Given the description of an element on the screen output the (x, y) to click on. 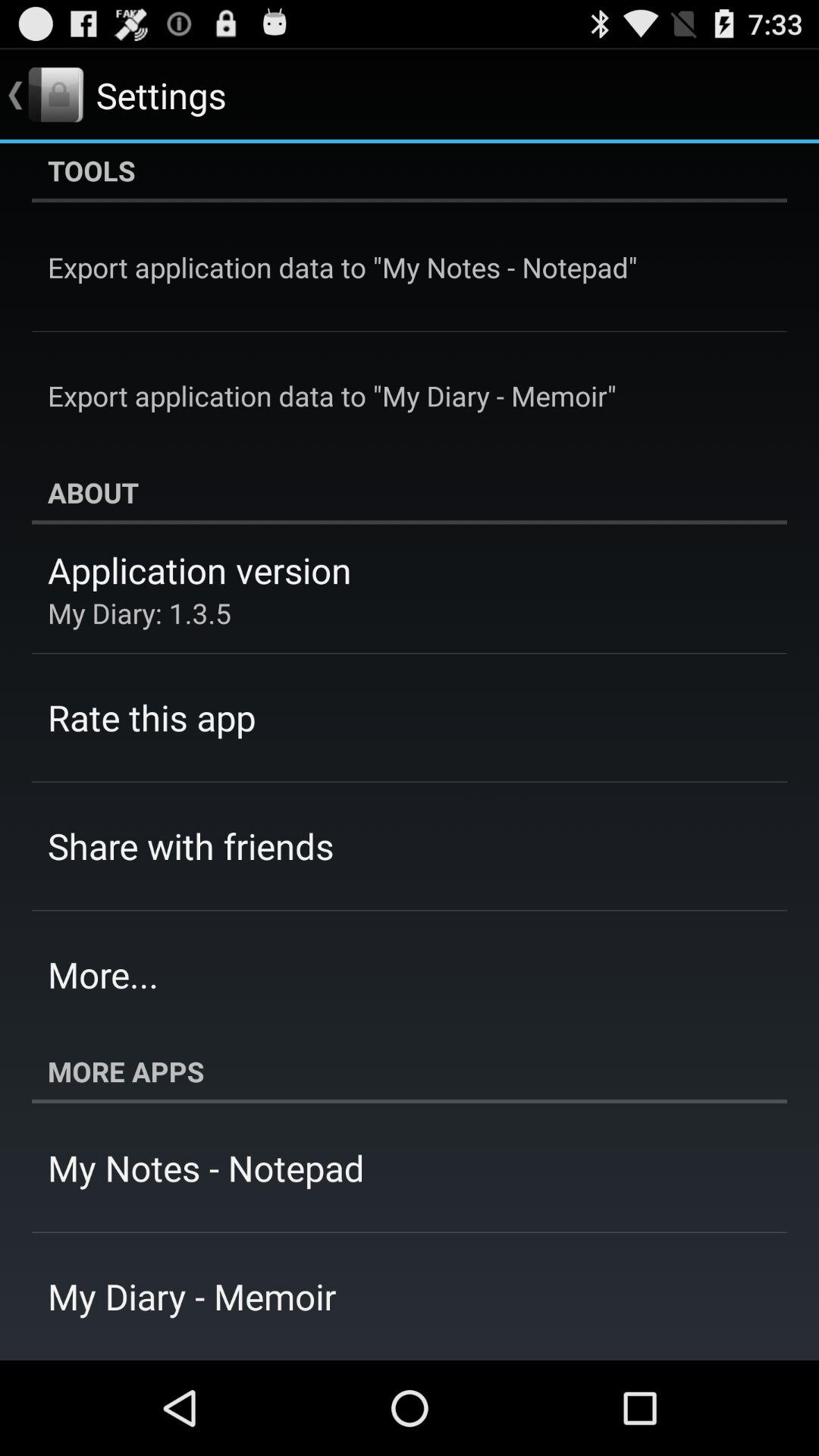
select the item above the export application data item (409, 172)
